Given the description of an element on the screen output the (x, y) to click on. 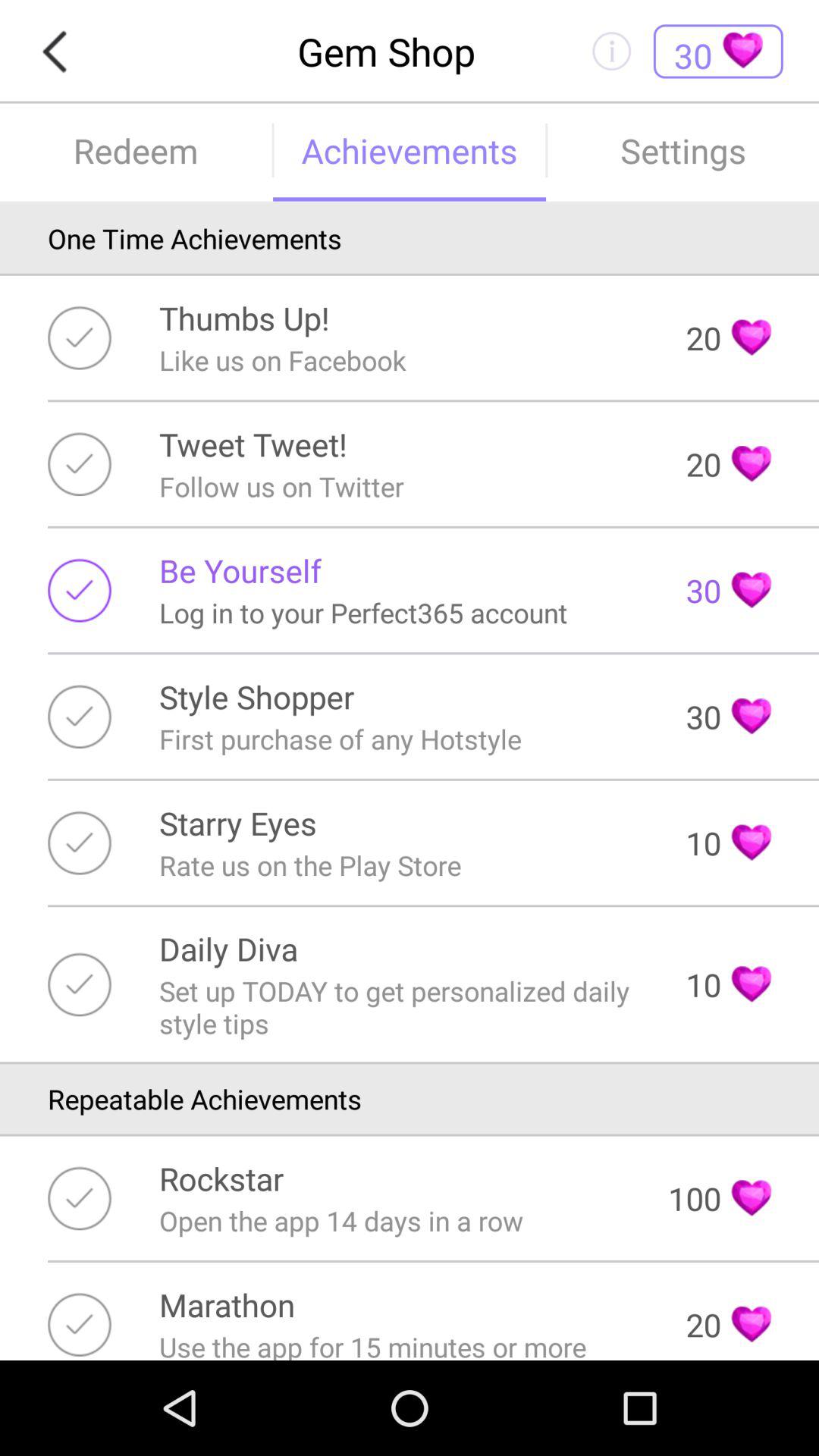
launch the redeem icon (135, 150)
